Given the description of an element on the screen output the (x, y) to click on. 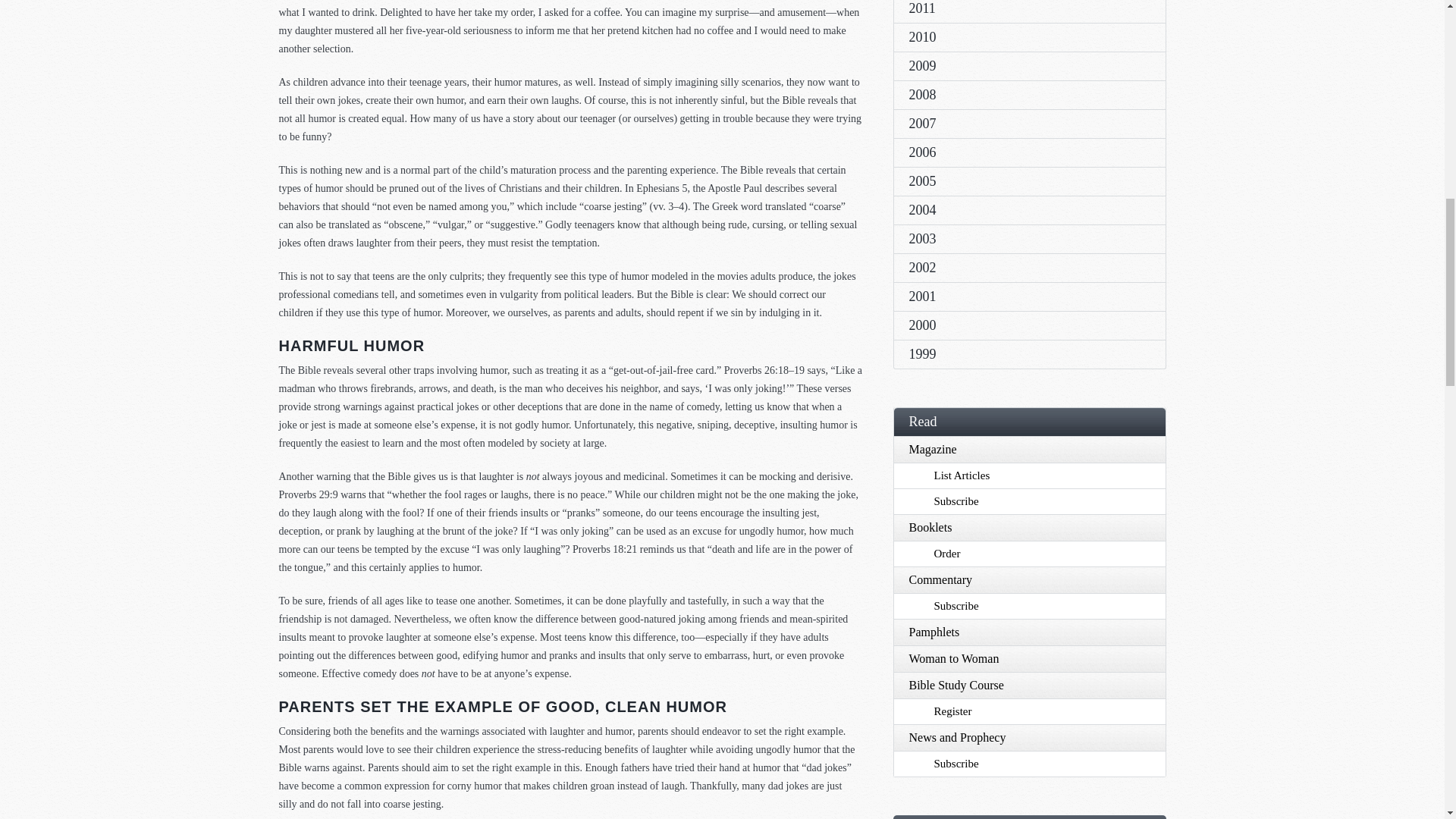
2010 (1028, 36)
2009 (1028, 65)
2008 (1028, 94)
2011 (1028, 11)
